Given the description of an element on the screen output the (x, y) to click on. 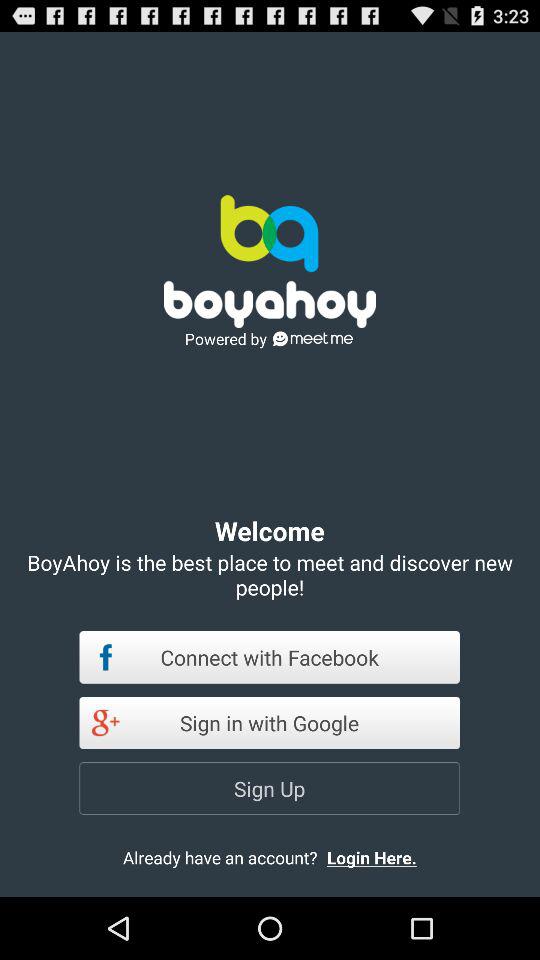
click app below sign in with icon (269, 788)
